Given the description of an element on the screen output the (x, y) to click on. 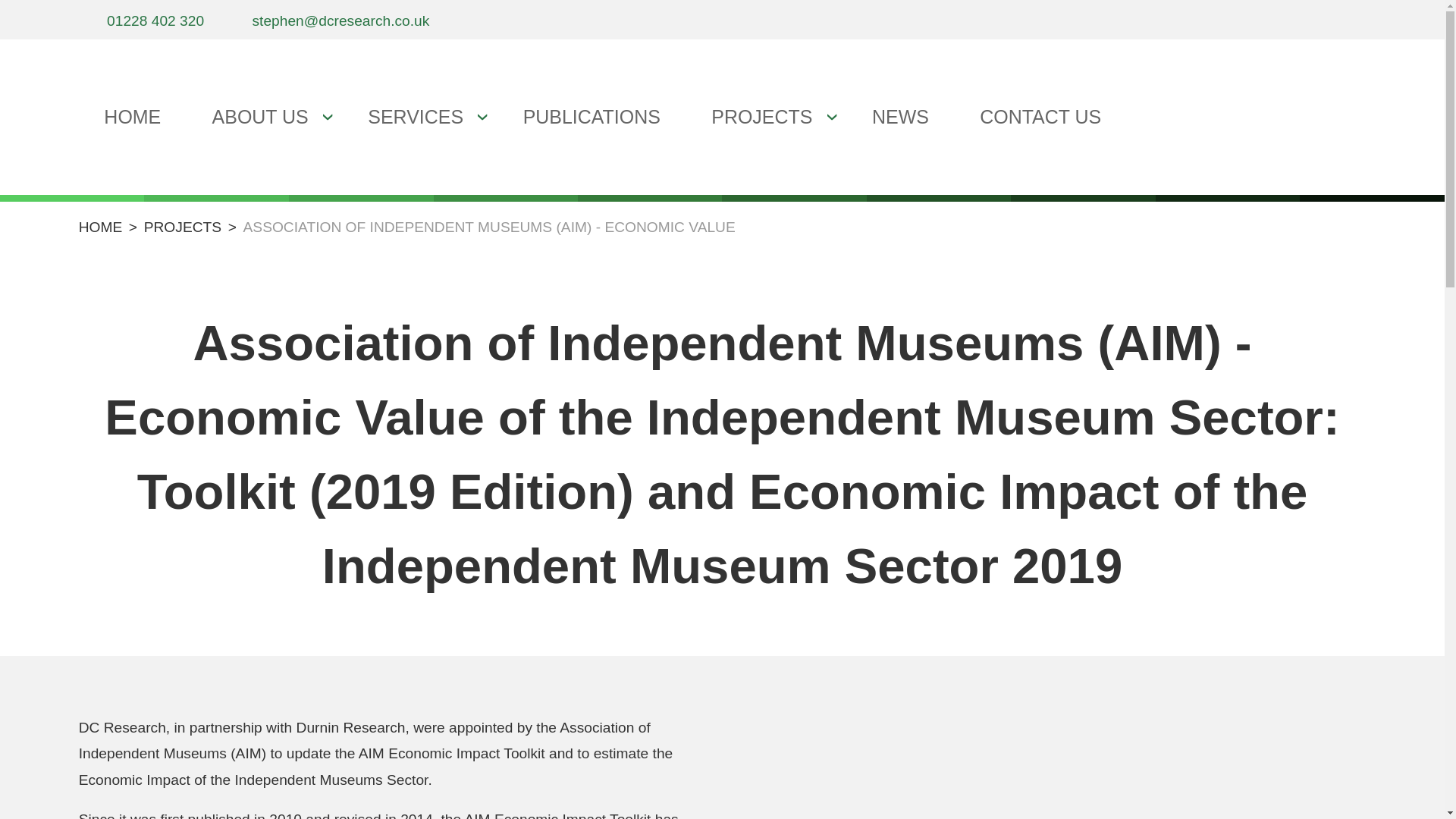
01228 402 320 (140, 21)
CONTACT US (1040, 116)
HOME (100, 227)
PROJECTS (766, 116)
SERVICES (419, 116)
PUBLICATIONS (591, 116)
PROJECTS (182, 227)
ABOUT US (264, 116)
HOME (132, 116)
NEWS (899, 116)
